Given the description of an element on the screen output the (x, y) to click on. 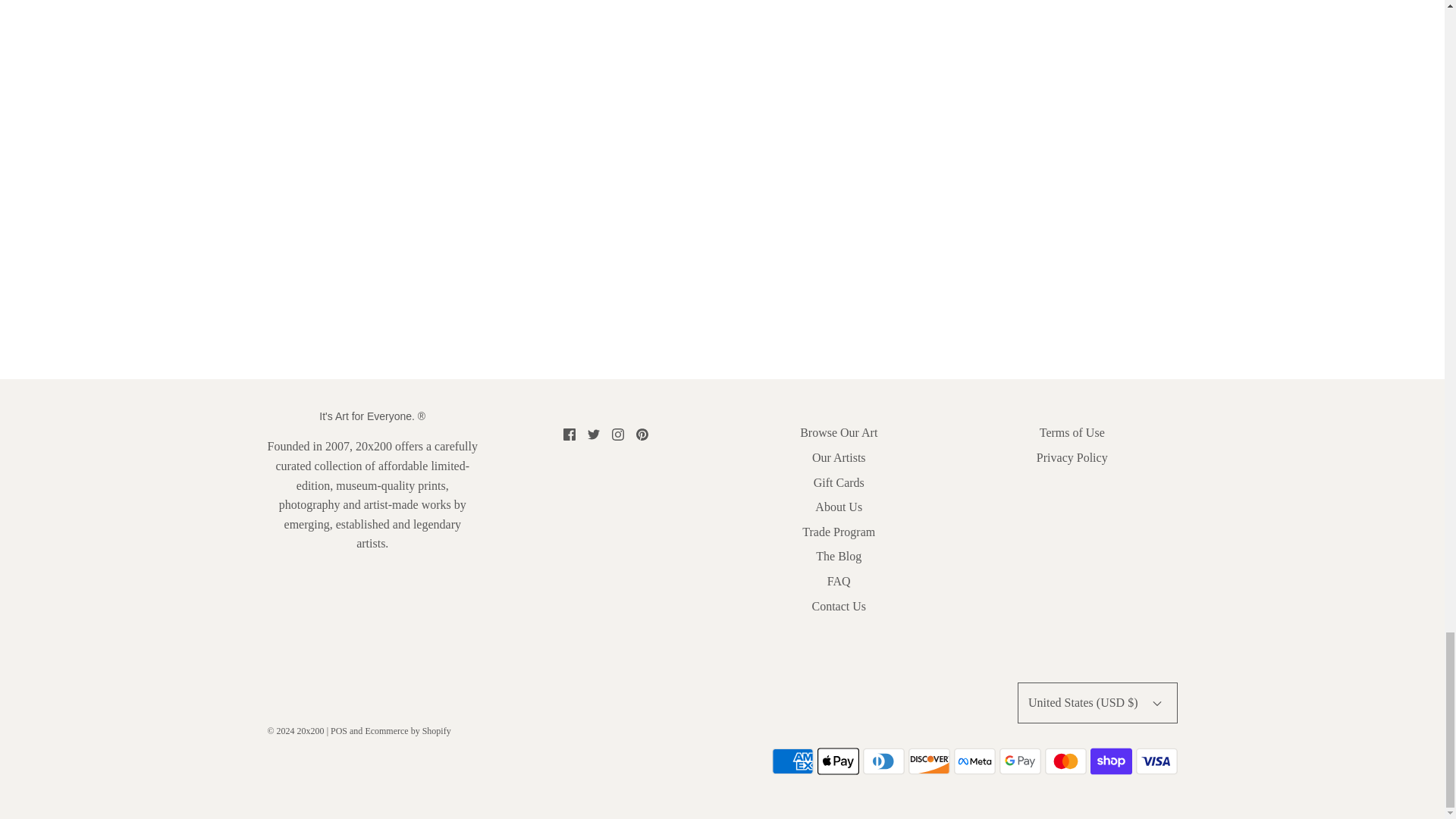
Diners Club (883, 761)
Pinterest icon (641, 434)
Twitter icon (593, 434)
Mastercard (1065, 761)
Google Pay (1019, 761)
Discover (929, 761)
Instagram icon (617, 434)
American Express (792, 761)
Meta Pay (974, 761)
Apple Pay (837, 761)
